Given the description of an element on the screen output the (x, y) to click on. 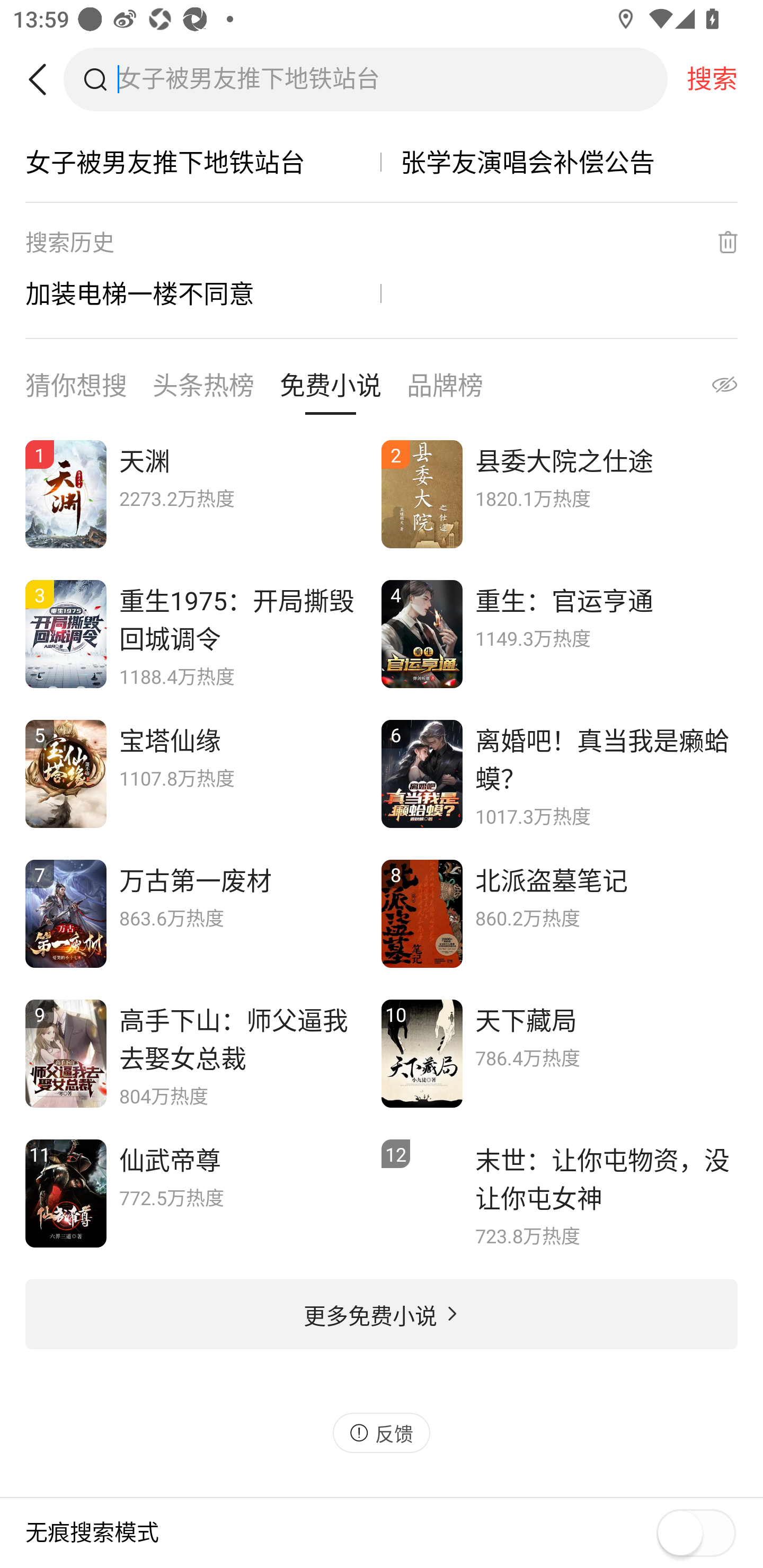
搜索框，女子被男友推下地铁站台 (392, 79)
搜索 (711, 79)
返回 (44, 79)
女子被男友推下地铁站台，链接, 女子被男友推下地铁站台 (203, 162)
张学友演唱会补偿公告，链接, 张学友演唱会补偿公告 (559, 162)
删除搜索历史 (716, 242)
加装电梯一楼不同意，链接, 加装电梯一楼不同意 (203, 292)
猜你想搜 按钮 (76, 389)
头条热榜 按钮 (203, 389)
免费小说 按钮 已选中 (330, 389)
品牌榜 按钮 (444, 389)
隐藏全部推荐词内容 按钮 (706, 389)
推荐小说 第1本 天渊 2273.2万热度 链接 (203, 494)
推荐小说 第2本 县委大院之仕途 1820.1万热度 链接 (559, 494)
推荐小说 第3本 重生1975：开局撕毁回城调令 1188.4万热度 链接 (203, 634)
推荐小说 第4本 重生：官运亨通 1149.3万热度 链接 (559, 634)
推荐小说 第5本 宝塔仙缘 1107.8万热度 链接 (203, 773)
推荐小说 第6本 离婚吧！真当我是癞蛤蟆？ 1017.3万热度 链接 (559, 773)
推荐小说 第7本 万古第一废材 863.6万热度 链接 (203, 913)
推荐小说 第8本 北派盗墓笔记 860.2万热度 链接 (559, 913)
推荐小说 第9本 高手下山：师父逼我去娶女总裁 804万热度 链接 (203, 1053)
推荐小说 第10本 天下藏局 786.4万热度 链接 (559, 1053)
推荐小说 第11本 仙武帝尊 772.5万热度 链接 (203, 1193)
推荐小说 第12本 末世：让你屯物资，没让你屯女神 723.8万热度 链接 (559, 1193)
反馈, 按钮 (381, 1432)
